Given the description of an element on the screen output the (x, y) to click on. 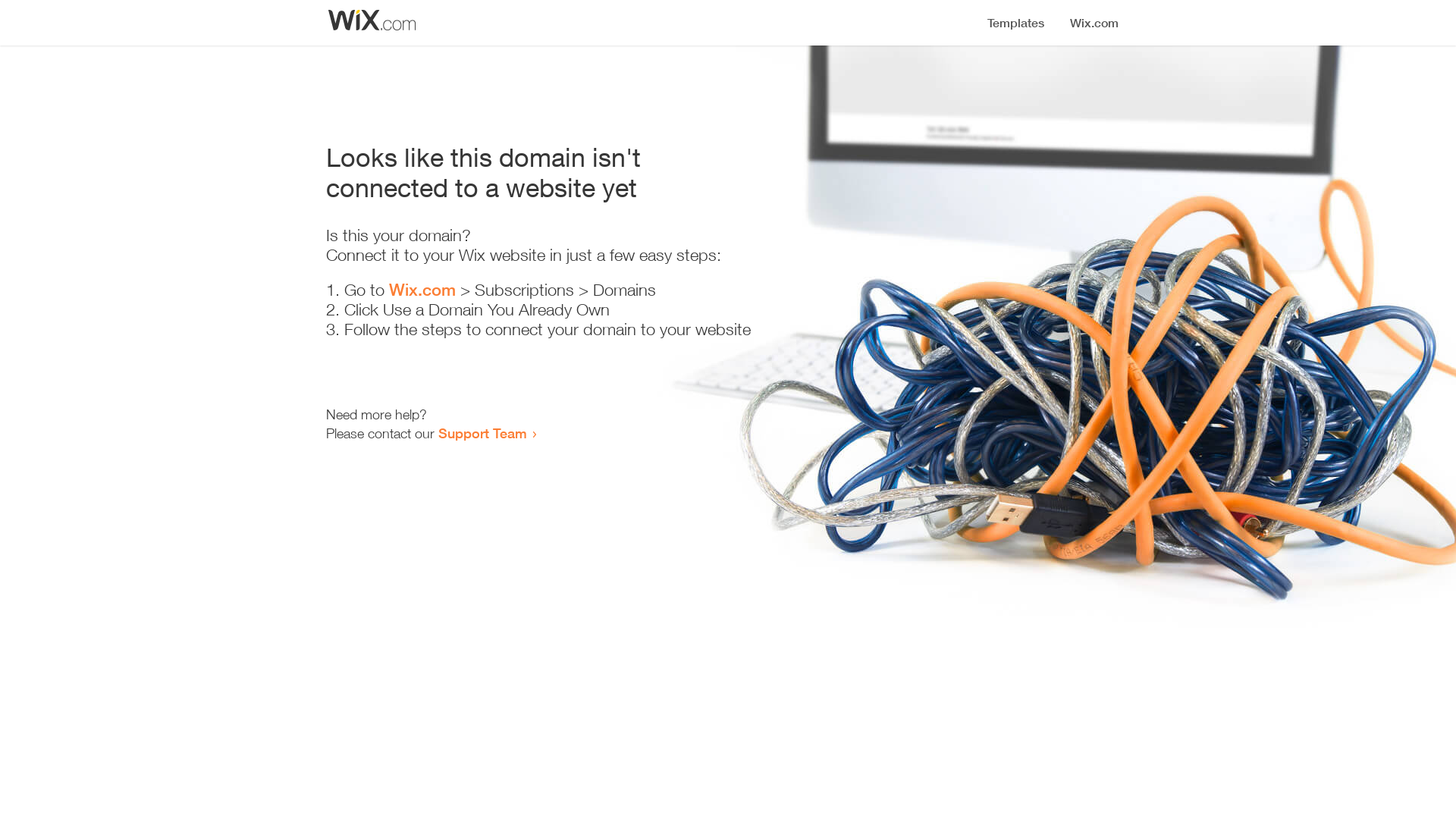
Wix.com Element type: text (422, 289)
Support Team Element type: text (482, 432)
